Given the description of an element on the screen output the (x, y) to click on. 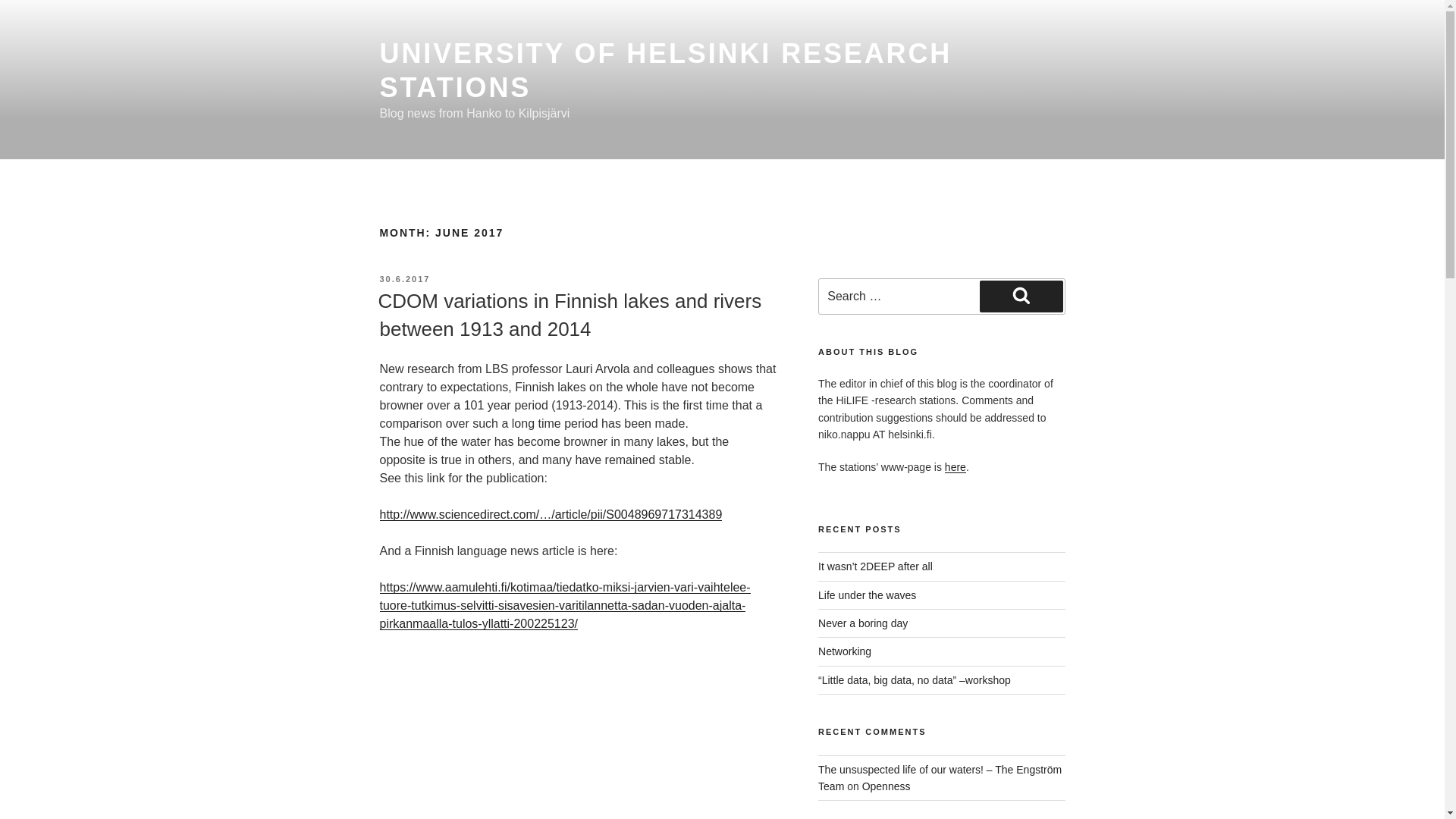
UNIVERSITY OF HELSINKI RESEARCH STATIONS (665, 70)
Life under the waves (866, 594)
here (955, 467)
Openness (886, 786)
Search (1020, 296)
30.6.2017 (403, 278)
Never a boring day (862, 623)
Networking (844, 651)
